Given the description of an element on the screen output the (x, y) to click on. 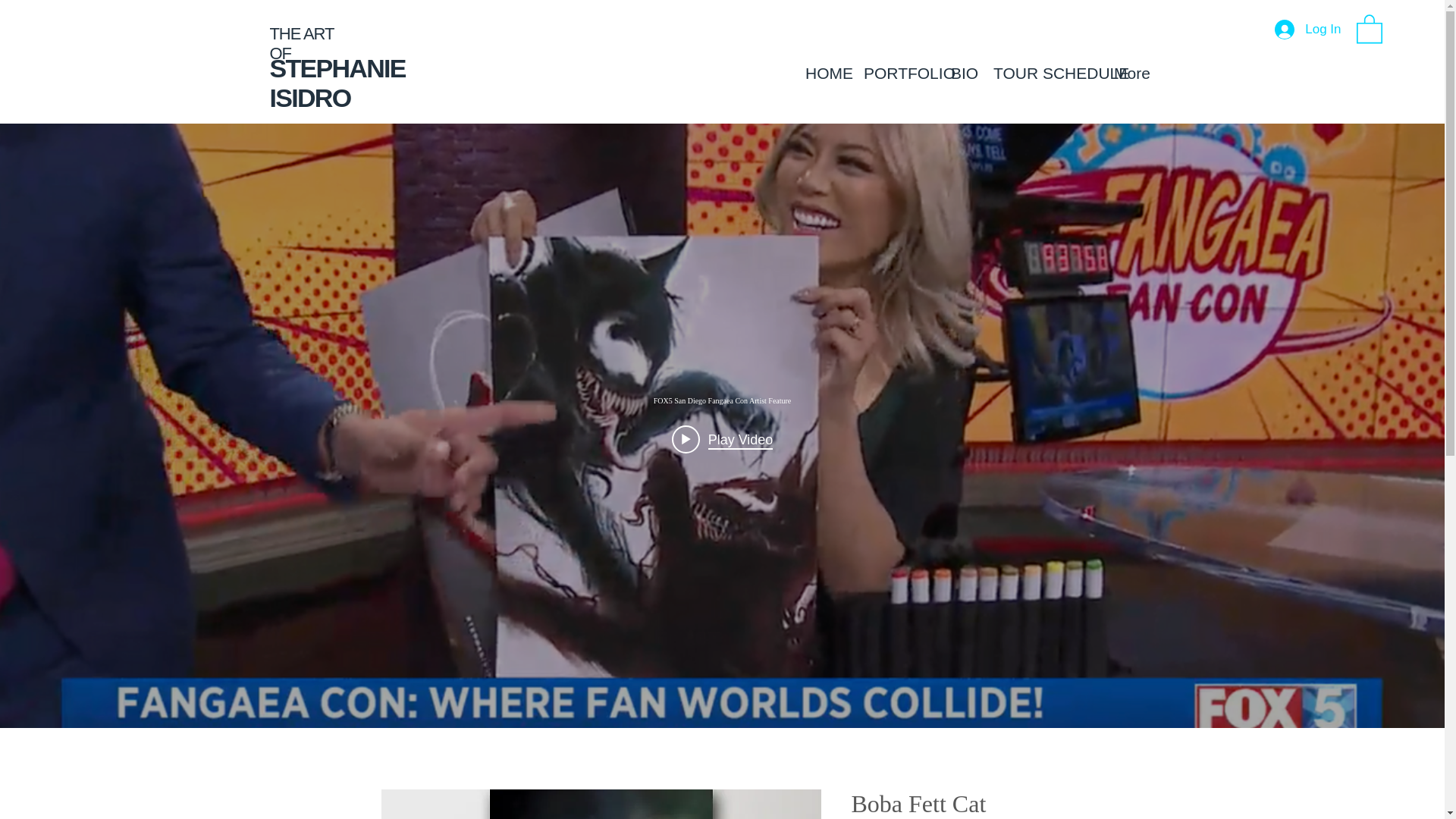
BIO (960, 73)
HOME (822, 73)
FOX5 San Diego Fangaea Con Artist Feature (721, 400)
Play Video (722, 439)
PORTFOLIO (895, 73)
Log In (1307, 29)
TOUR SCHEDULE (1041, 73)
